Given the description of an element on the screen output the (x, y) to click on. 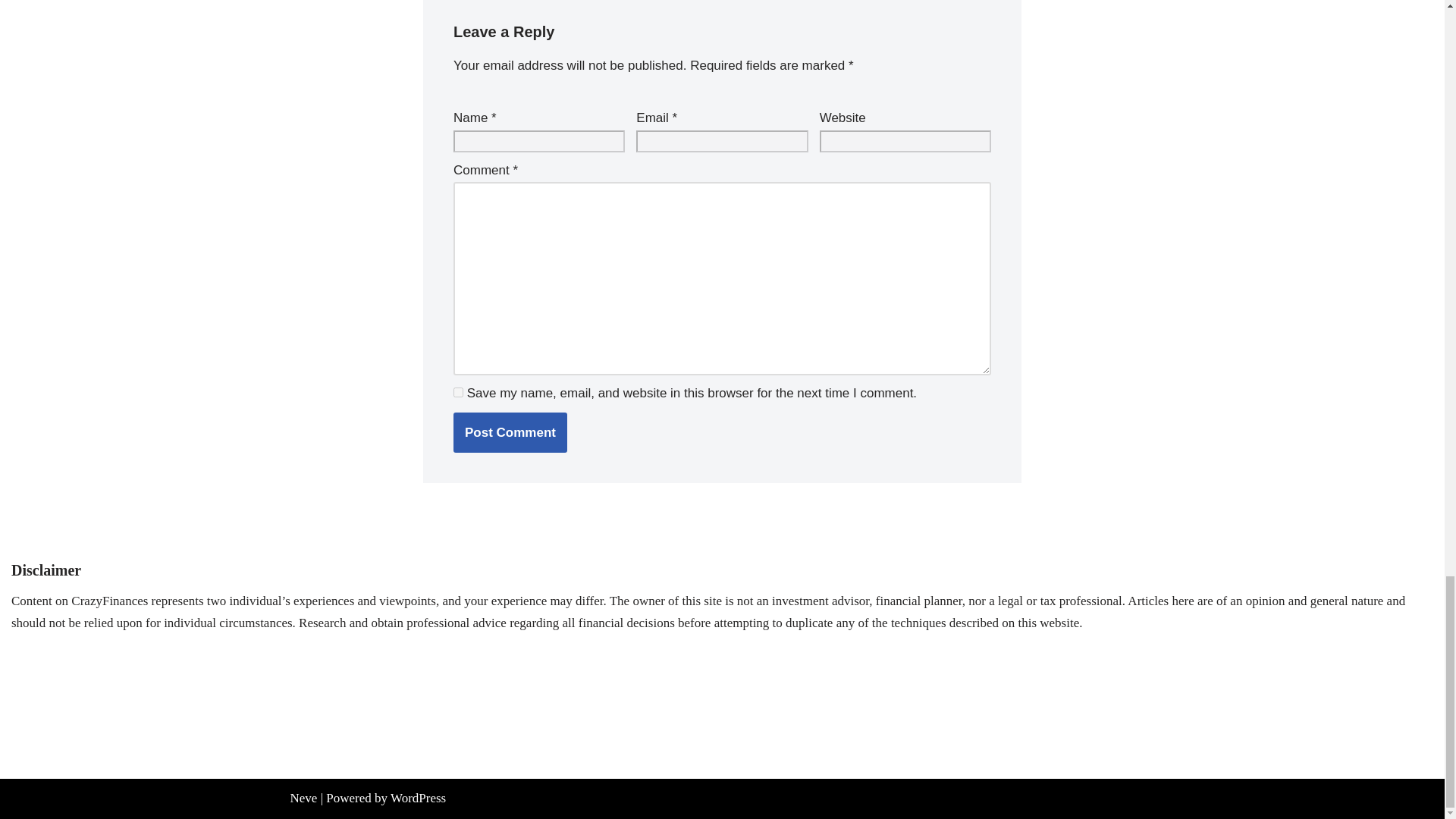
WordPress (417, 798)
Post Comment (509, 432)
Neve (303, 798)
Post Comment (509, 432)
yes (457, 392)
